Given the description of an element on the screen output the (x, y) to click on. 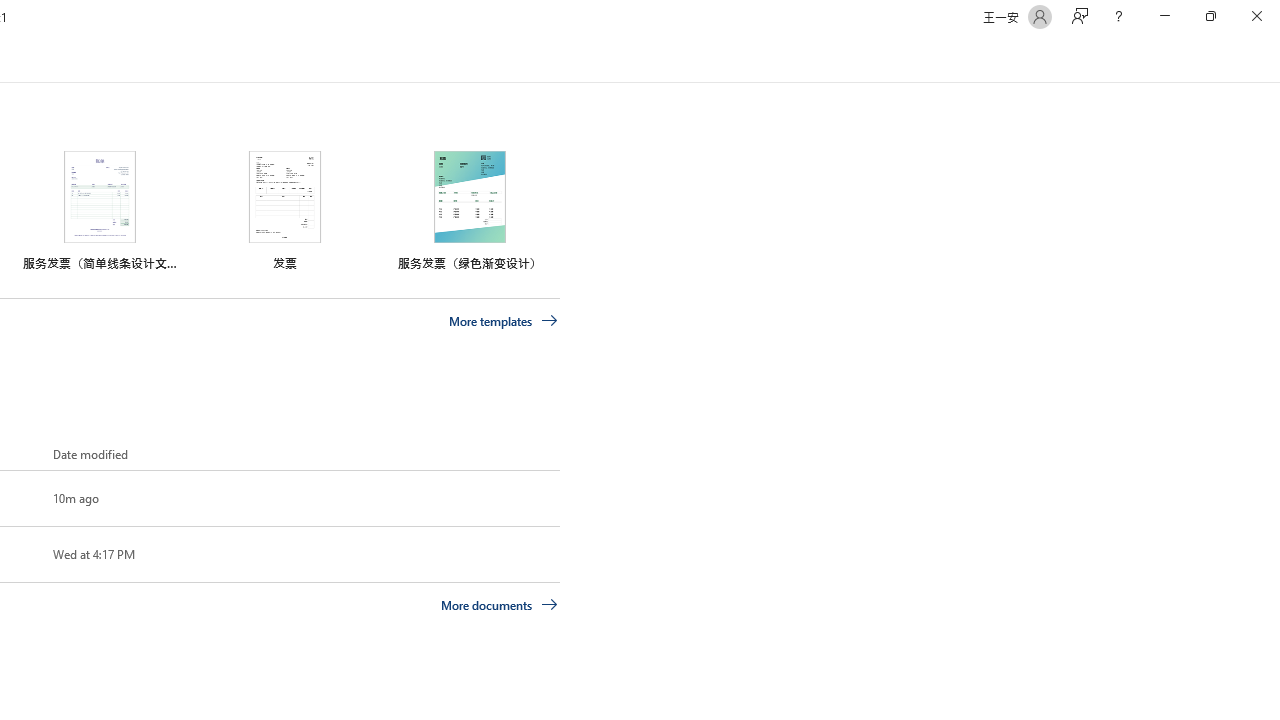
Help (1118, 16)
Minimize (1164, 16)
More documents (499, 604)
More templates (503, 321)
Close (1256, 16)
Pin this item to the list (20, 553)
Restore Down (1210, 16)
Class: NetUIScrollBar (1271, 59)
